Given the description of an element on the screen output the (x, y) to click on. 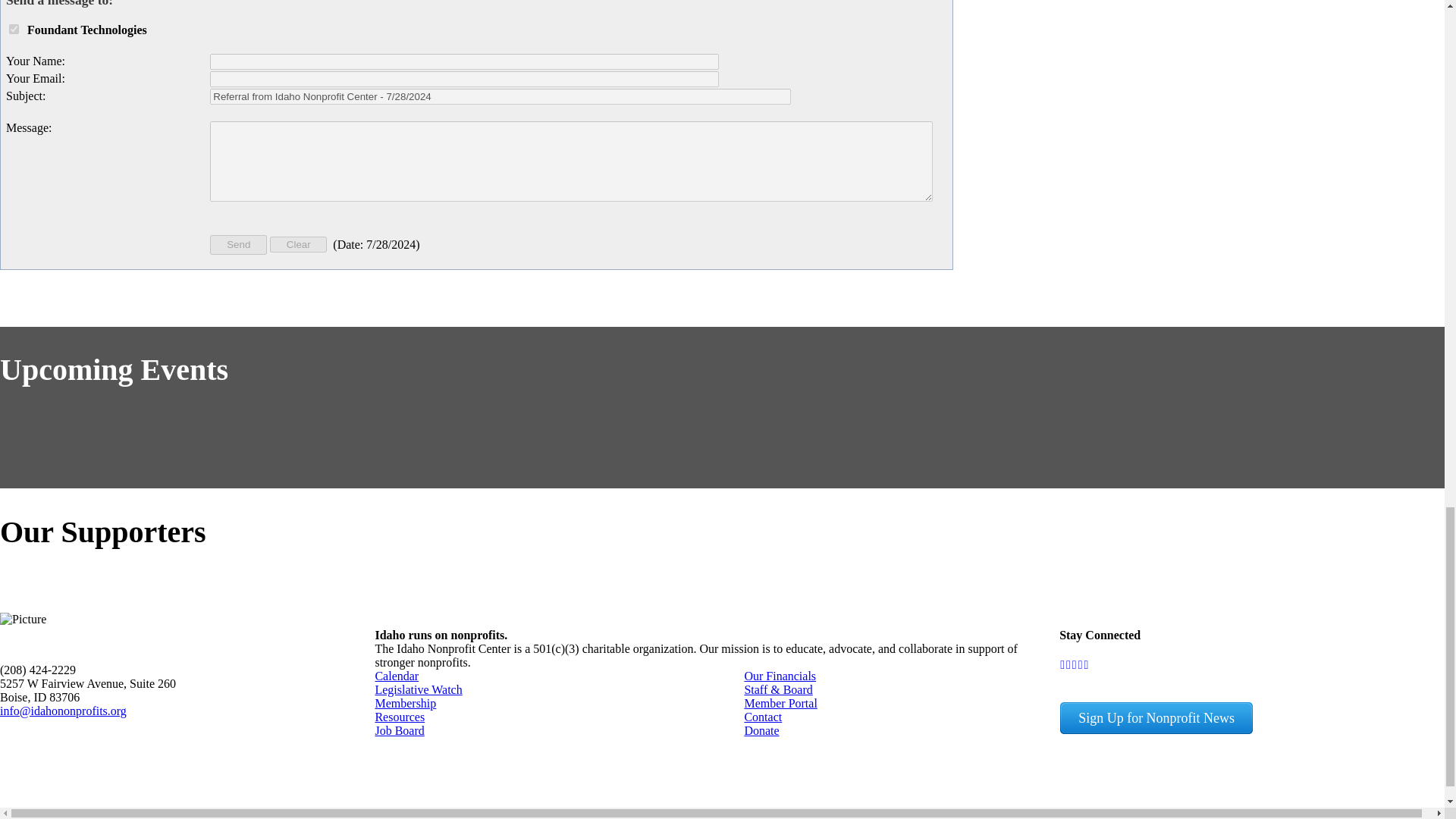
You cannot change the Email Subject (499, 96)
on (13, 29)
Send (237, 244)
Clear (297, 244)
